Given the description of an element on the screen output the (x, y) to click on. 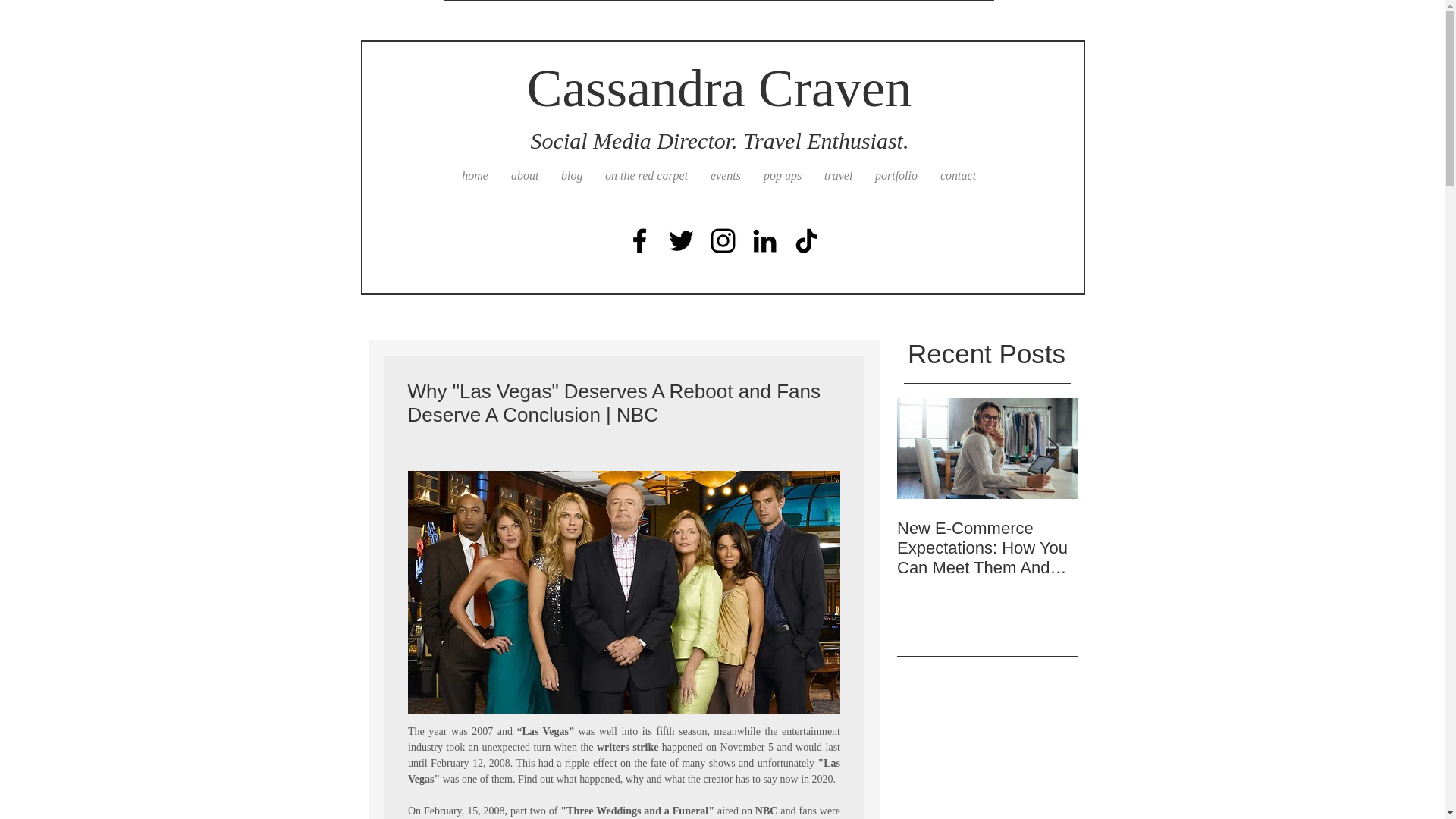
contact (957, 175)
travel (837, 175)
home (474, 175)
blog (572, 175)
portfolio (895, 175)
pop ups (782, 175)
about (524, 175)
Cassandra Craven (719, 87)
on the red carpet (646, 175)
